Given the description of an element on the screen output the (x, y) to click on. 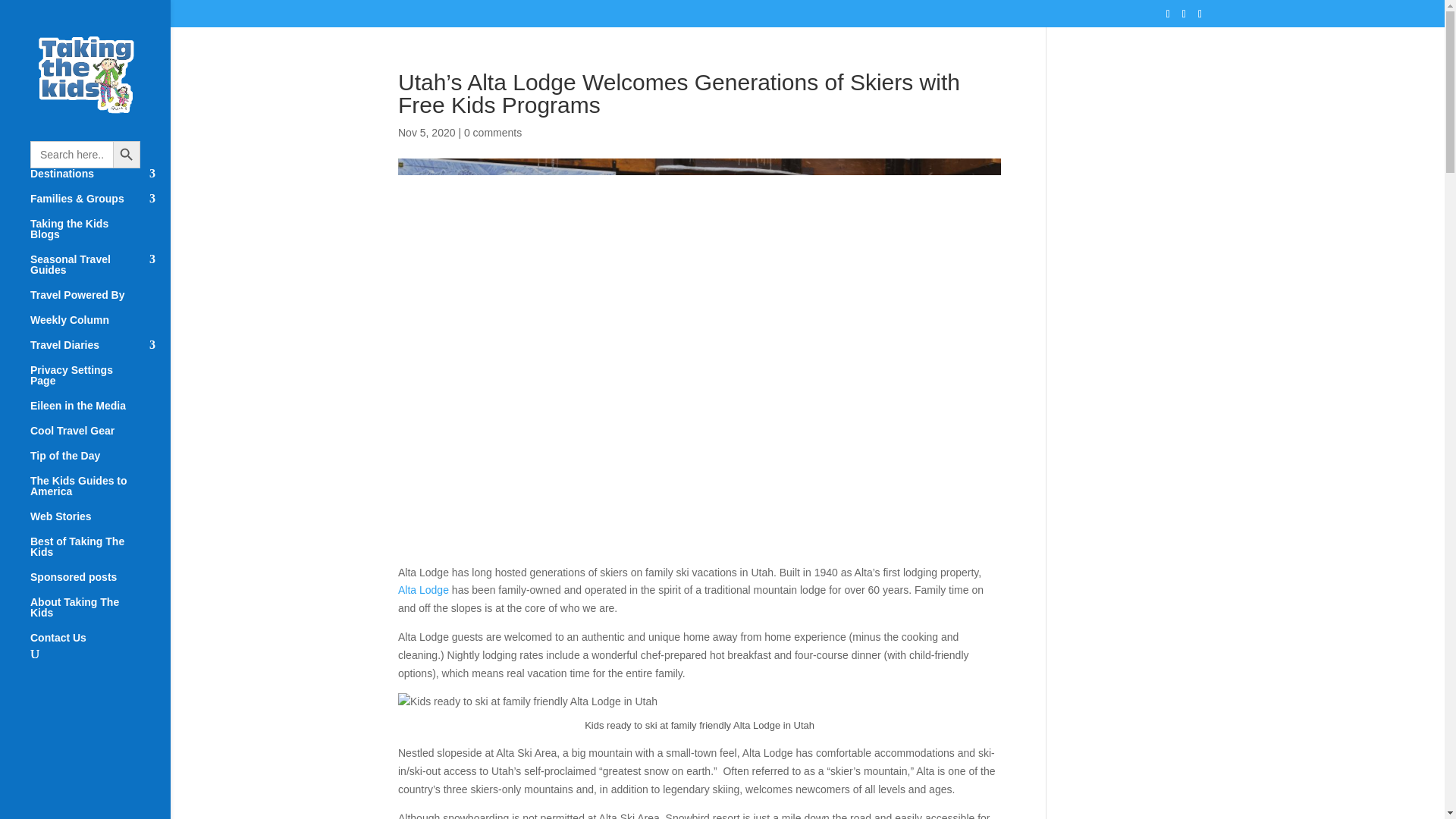
Tip of the Day (100, 462)
Travel Diaries (100, 351)
Travel Powered By (100, 301)
Web Stories (100, 523)
Cool Travel Gear (100, 437)
Weekly Column (100, 326)
Seasonal Travel Guides (100, 271)
Search Button (126, 154)
Best of Taking The Kids (100, 553)
Destinations (100, 180)
The Kids Guides to America (100, 493)
Eileen in the Media (100, 412)
Taking the Kids Blogs (100, 235)
Privacy Settings Page (100, 382)
